Given the description of an element on the screen output the (x, y) to click on. 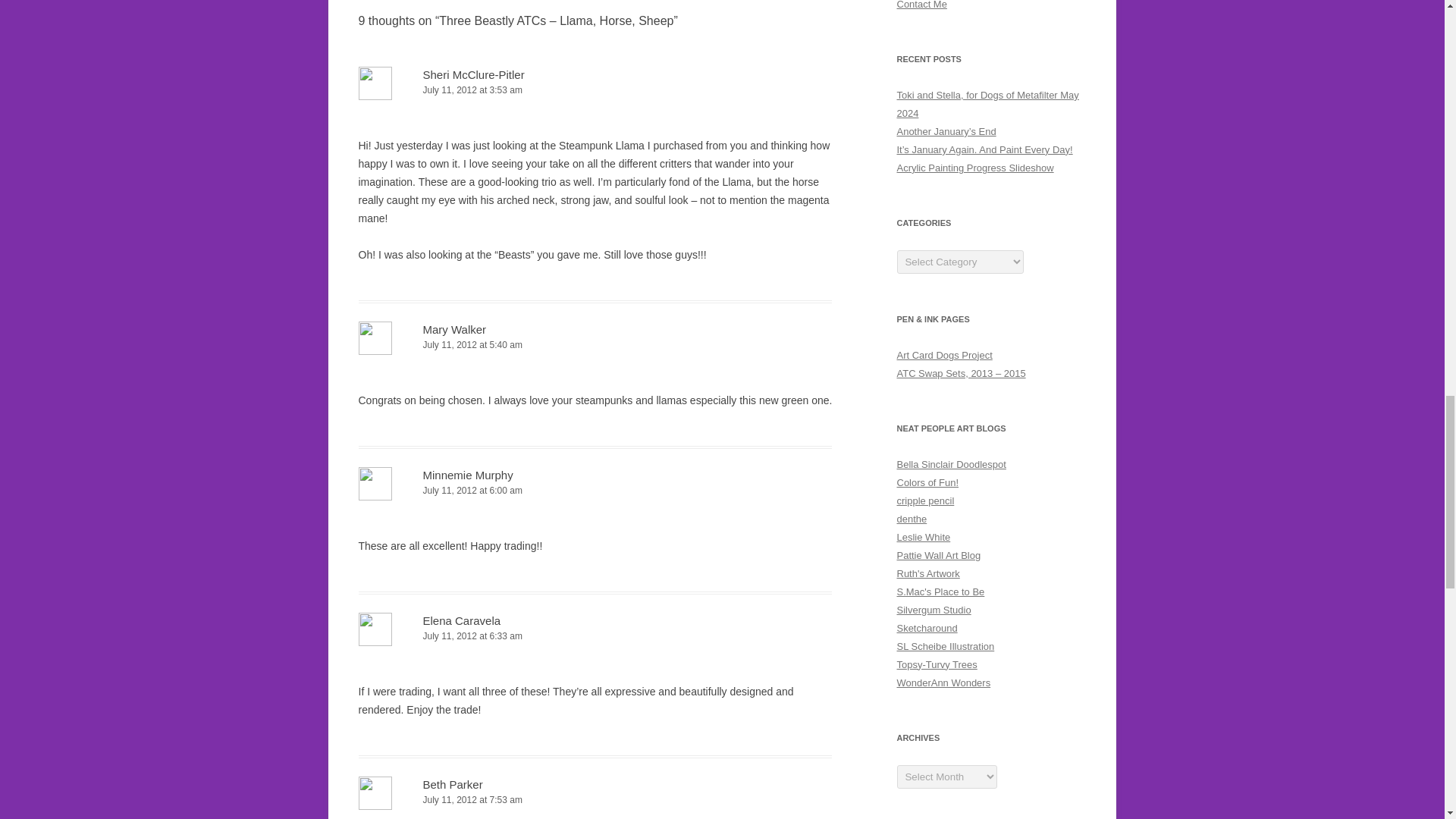
July 11, 2012 at 3:53 am (594, 90)
Mary Walker (454, 328)
July 11, 2012 at 6:00 am (594, 490)
Sheri McClure-Pitler (473, 74)
July 11, 2012 at 5:40 am (594, 344)
Minnemie Murphy (468, 474)
